Given the description of an element on the screen output the (x, y) to click on. 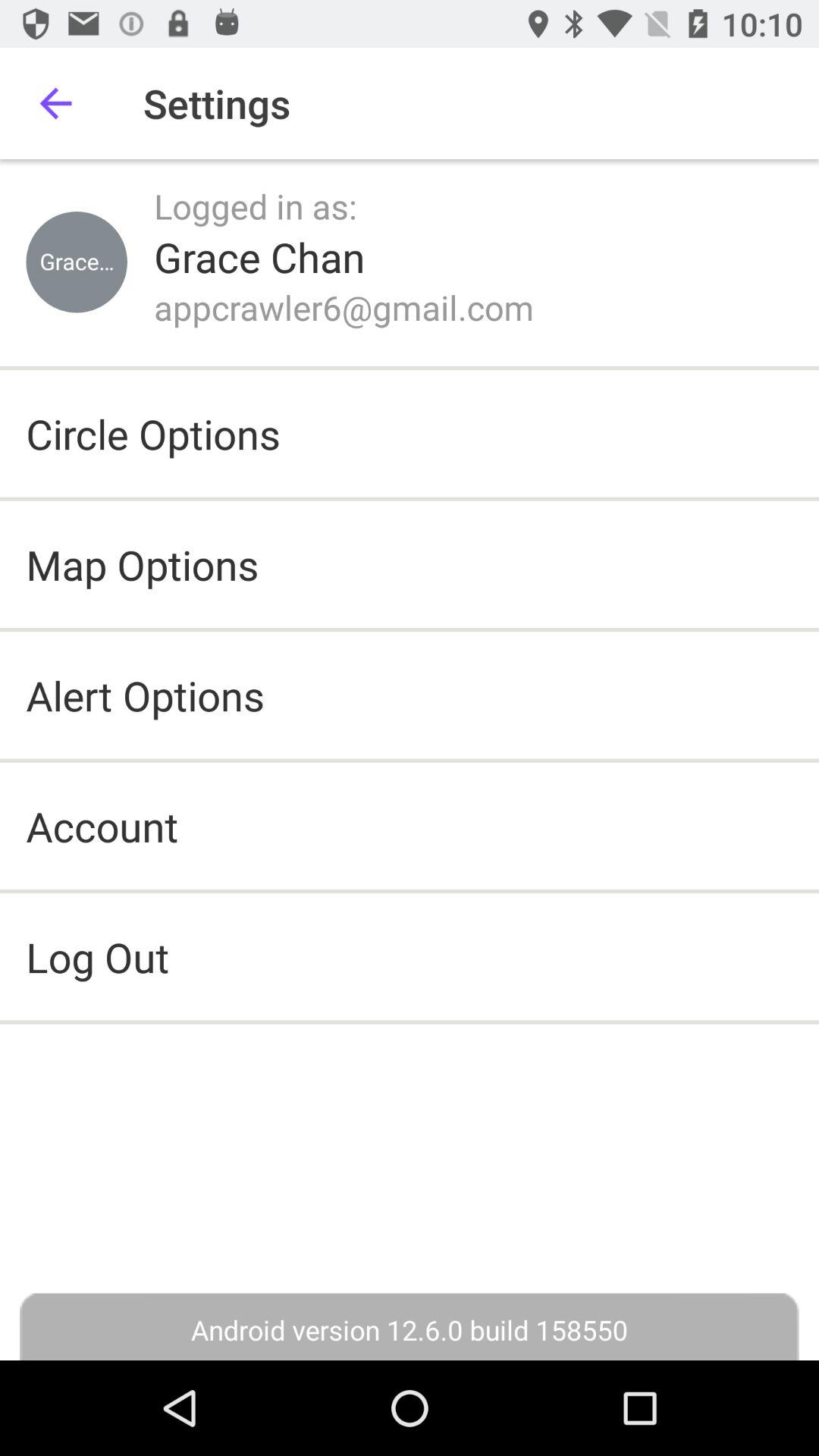
flip until map options (142, 564)
